Given the description of an element on the screen output the (x, y) to click on. 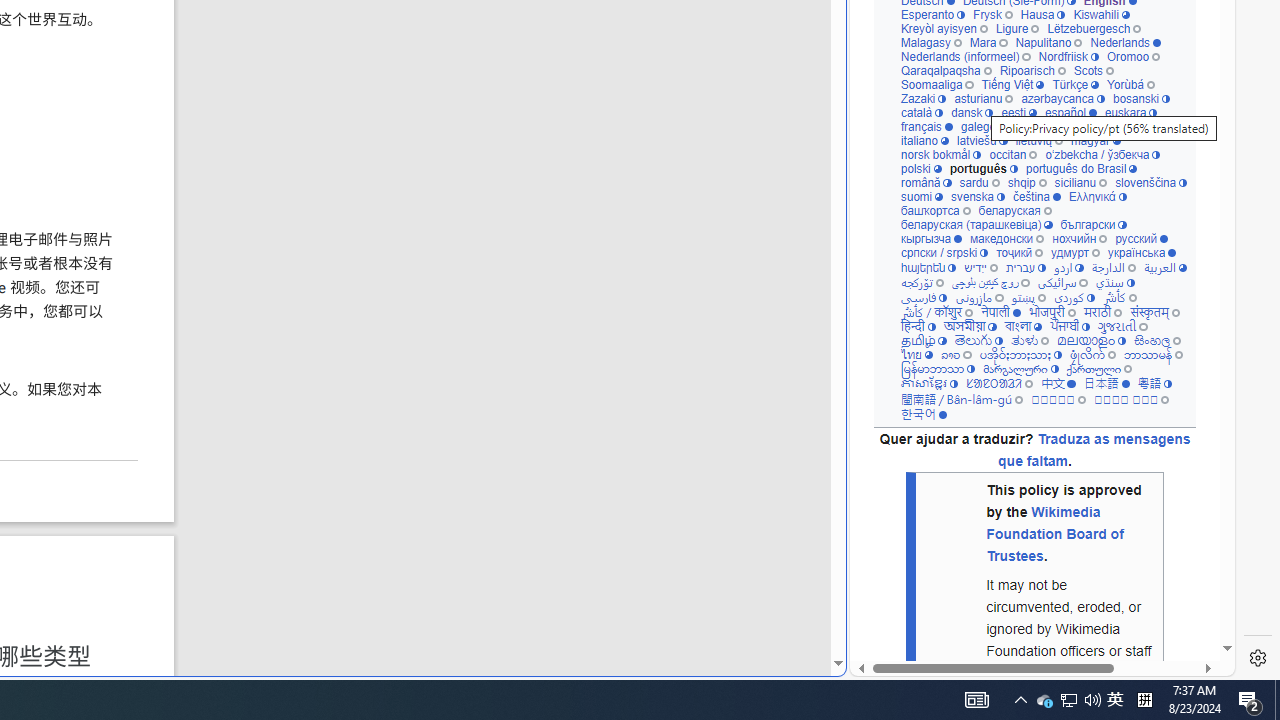
Ligure (1016, 28)
Zazaki (923, 97)
Scots (1093, 70)
sardu (978, 182)
Hausa (1043, 14)
